Given the description of an element on the screen output the (x, y) to click on. 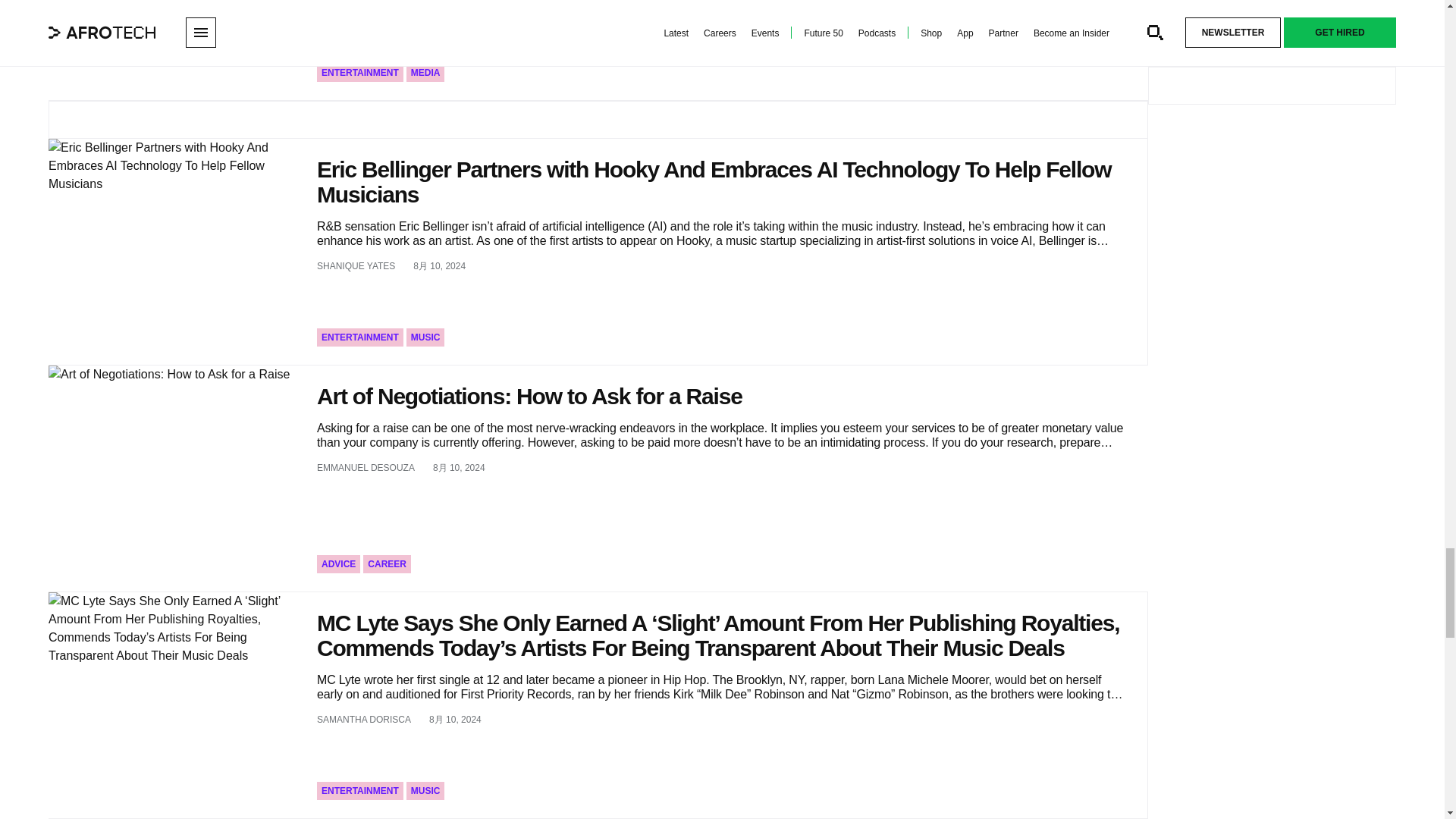
Art of Negotiations: How to Ask for a Raise (173, 478)
